Given the description of an element on the screen output the (x, y) to click on. 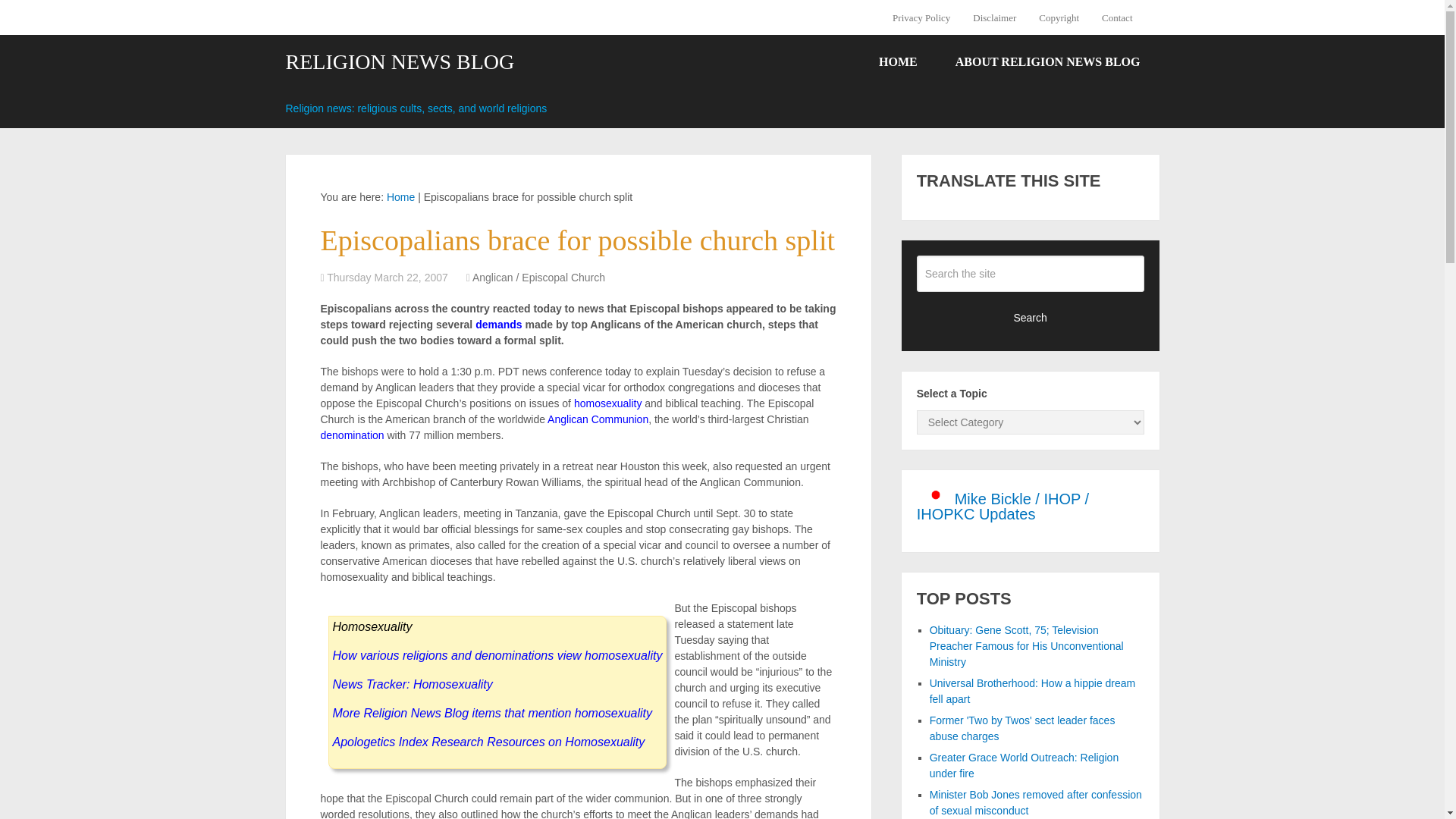
Home (400, 196)
Search (1030, 317)
ABOUT RELIGION NEWS BLOG (1047, 62)
HOME (898, 62)
Greater Grace World Outreach: Religion under fire (1024, 765)
More Religion News Blog items that mention homosexuality (491, 712)
How various religions and denominations view homosexuality (496, 655)
Privacy Policy (926, 17)
News Tracker: Homosexuality (411, 684)
homosexuality (607, 403)
Former 'Two by Twos' sect leader faces abuse charges (1022, 728)
Universal Brotherhood: How a hippie dream fell apart (1032, 691)
denomination (352, 435)
